Given the description of an element on the screen output the (x, y) to click on. 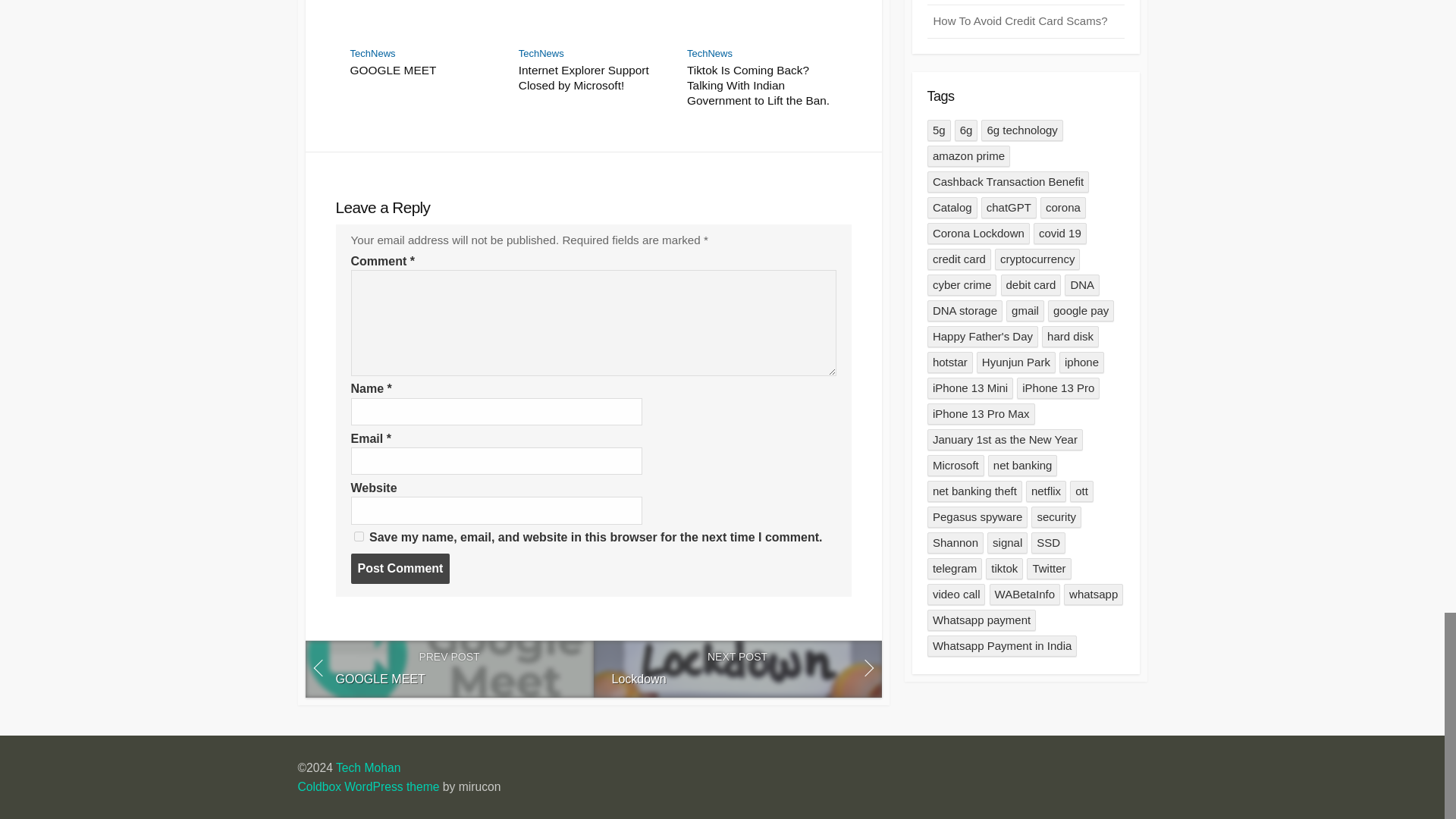
Post Comment (399, 568)
GOOGLE MEET (425, 70)
yes (357, 536)
Internet Explorer Support Closed by Microsoft! (593, 78)
TechNews (709, 52)
TechNews (373, 52)
Post Comment (448, 668)
